Given the description of an element on the screen output the (x, y) to click on. 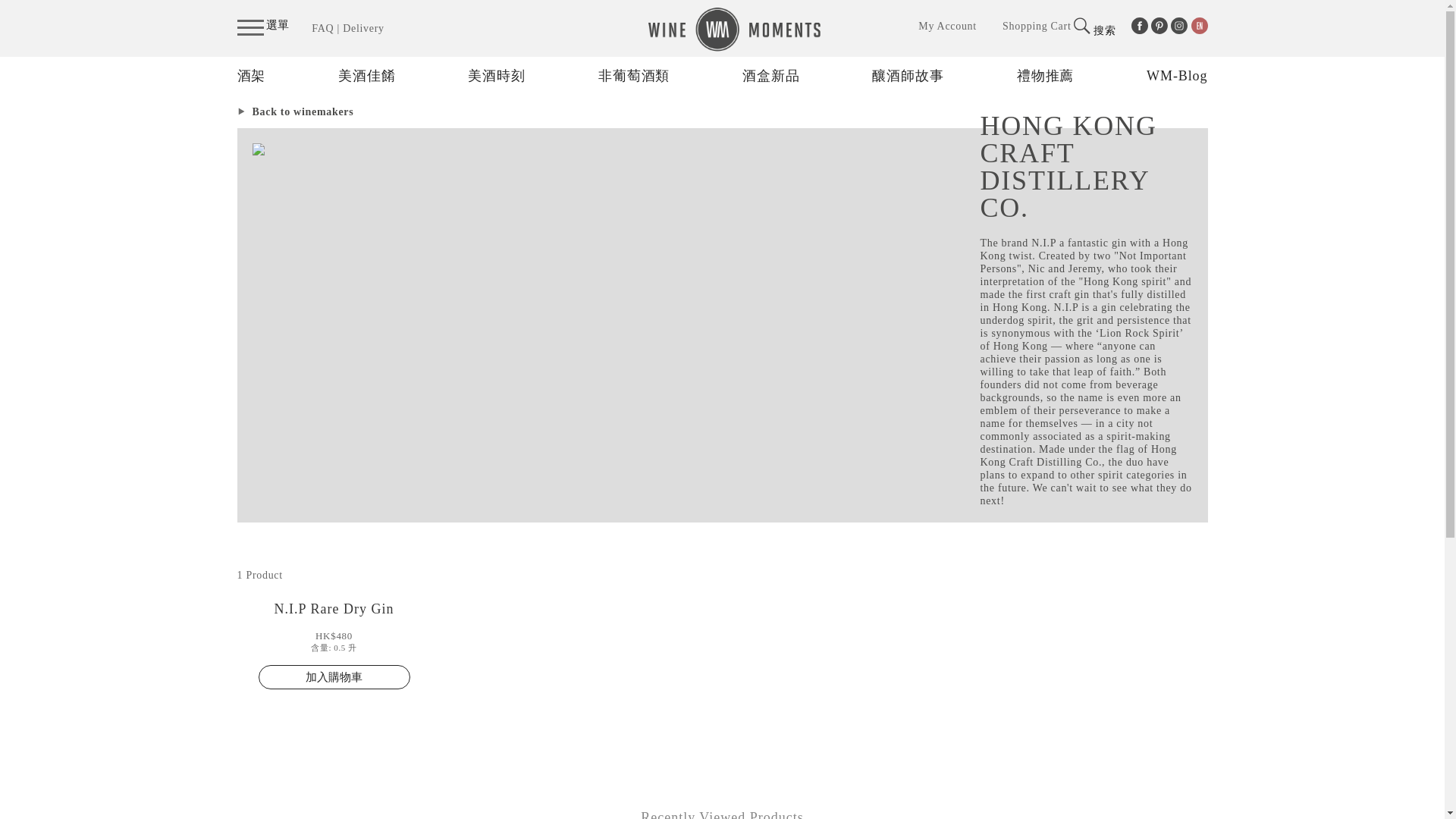
WINE MOMENTS on Instagram (1179, 25)
Shopping Cart (1036, 26)
My Account (947, 26)
WINE MOMENTS on Facebook (1139, 25)
WINE MOMENTS on Pinterest (1159, 25)
